Given the description of an element on the screen output the (x, y) to click on. 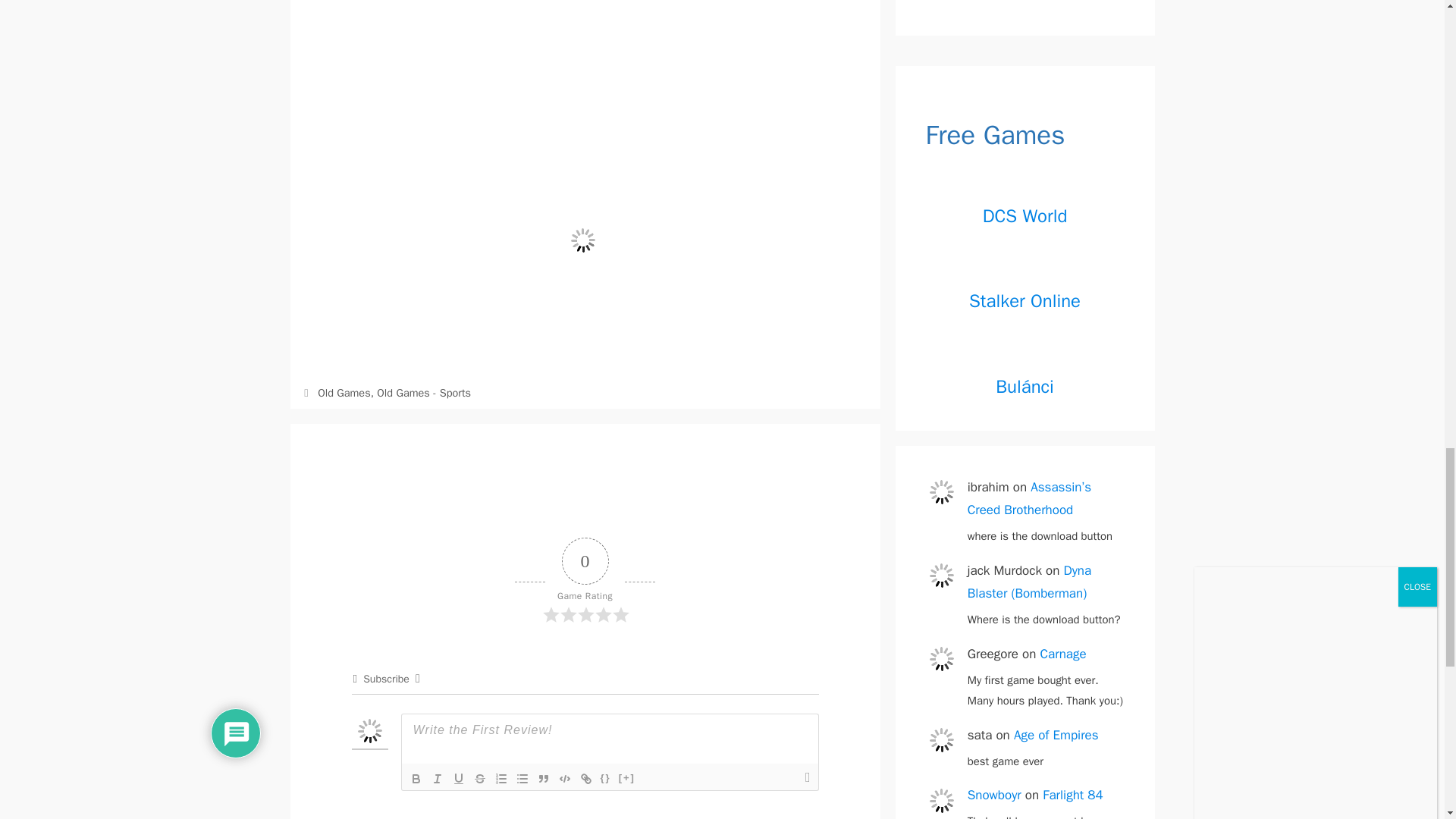
Italic (436, 778)
Unordered List (521, 778)
Blockquote (542, 778)
Ordered List (500, 778)
Bold (415, 778)
Source Code (604, 778)
Spoiler (626, 778)
Underline (457, 778)
Code Block (564, 778)
Strike (478, 778)
Link (585, 778)
